Given the description of an element on the screen output the (x, y) to click on. 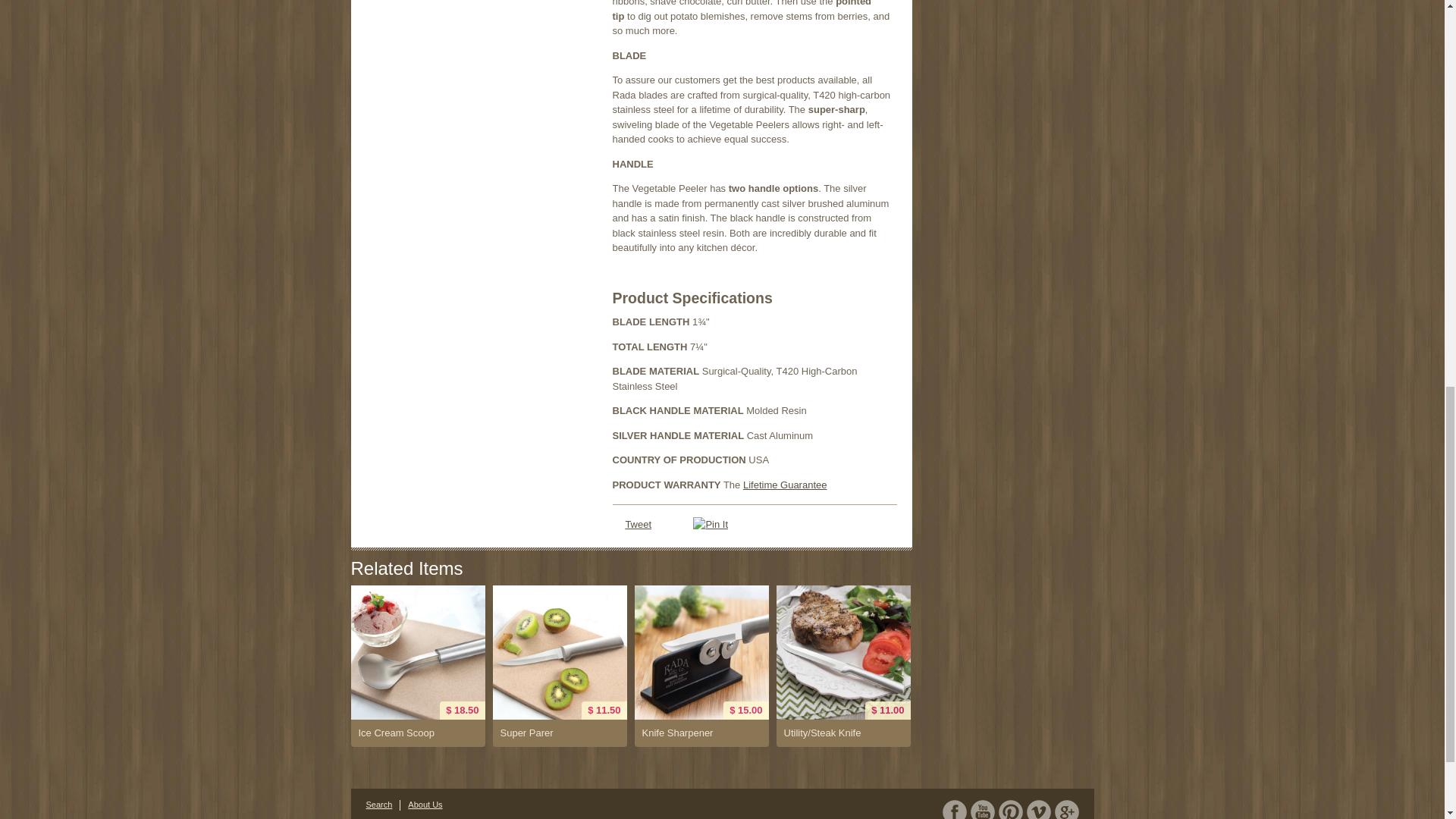
Tweet (637, 523)
Hillbilly Goodies on Facebook (954, 809)
Super Parer (560, 733)
Lifetime Guarantee (784, 484)
Knife Sharpener (700, 652)
Hillbilly Goodies on Vimeo (1038, 809)
Related Items (406, 567)
Knife Sharpener (701, 733)
Ice Cream Scoop (417, 652)
Hillbilly Goodies on YouTube (982, 809)
Ice Cream Scoop (417, 733)
Super Parer (560, 652)
Hillbilly Goodies on Pinterest (1009, 809)
Pin It (710, 524)
Search (378, 804)
